Given the description of an element on the screen output the (x, y) to click on. 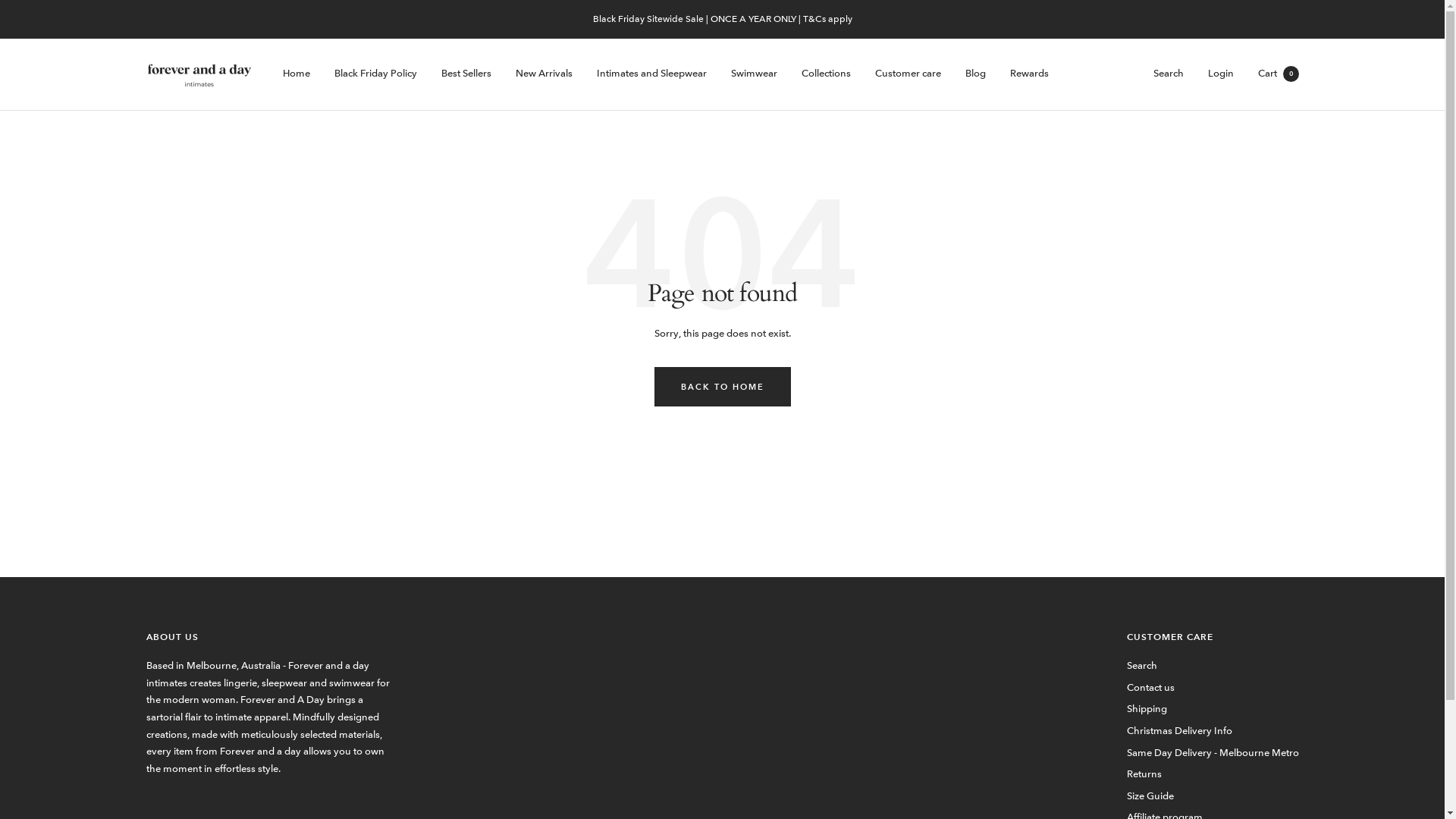
AW Element type: text (256, 750)
BACK TO HOME Element type: text (721, 386)
Rewards Element type: text (1029, 73)
AU Element type: text (256, 784)
Forever and a day intimates Element type: text (198, 74)
Returns Element type: text (1143, 774)
Customer care Element type: text (908, 73)
Black Friday Policy Element type: text (374, 73)
Collections Element type: text (825, 73)
Contact us Element type: text (1150, 687)
Size Guide Element type: text (1149, 796)
AF Element type: text (256, 583)
Swimwear Element type: text (754, 73)
Christmas Delivery Info Element type: text (1179, 731)
AG Element type: text (256, 700)
AO Element type: text (256, 667)
AX Element type: text (256, 600)
AC Element type: text (256, 767)
New Arrivals Element type: text (543, 73)
Cart
0 Element type: text (1277, 72)
AD Element type: text (256, 650)
Intimates and Sleepwear Element type: text (651, 73)
Blog Element type: text (974, 73)
Login Element type: text (1220, 72)
Search Element type: text (1141, 665)
Shipping Element type: text (1146, 709)
Same Day Delivery - Melbourne Metro Element type: text (1212, 753)
AT Element type: text (256, 800)
AI Element type: text (256, 684)
AL Element type: text (256, 617)
AR Element type: text (256, 717)
Best Sellers Element type: text (466, 73)
Home Element type: text (295, 73)
DZ Element type: text (256, 634)
Search Element type: text (1167, 72)
AM Element type: text (256, 734)
